Given the description of an element on the screen output the (x, y) to click on. 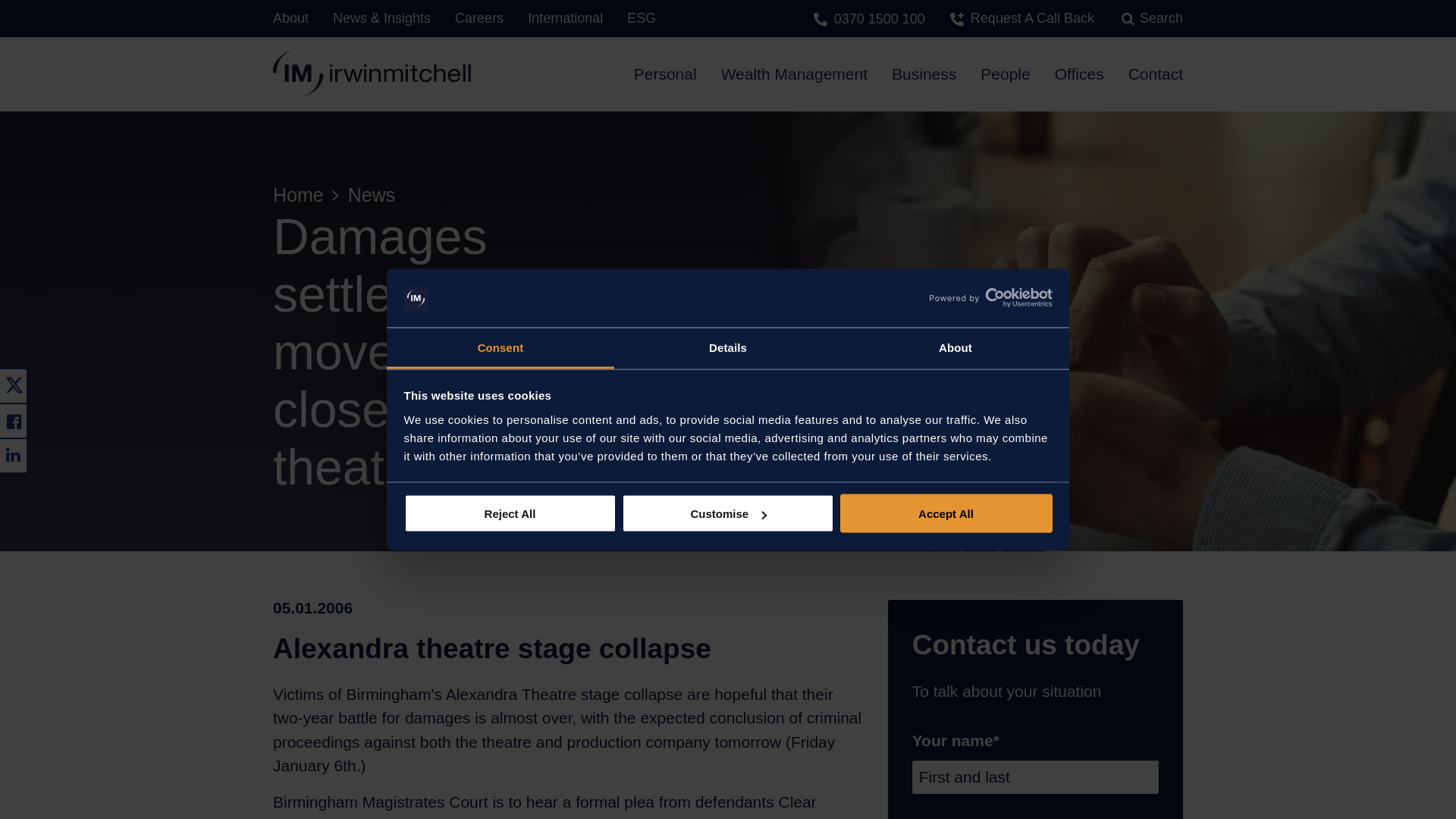
About (954, 347)
Consent (500, 347)
Details (727, 347)
